Given the description of an element on the screen output the (x, y) to click on. 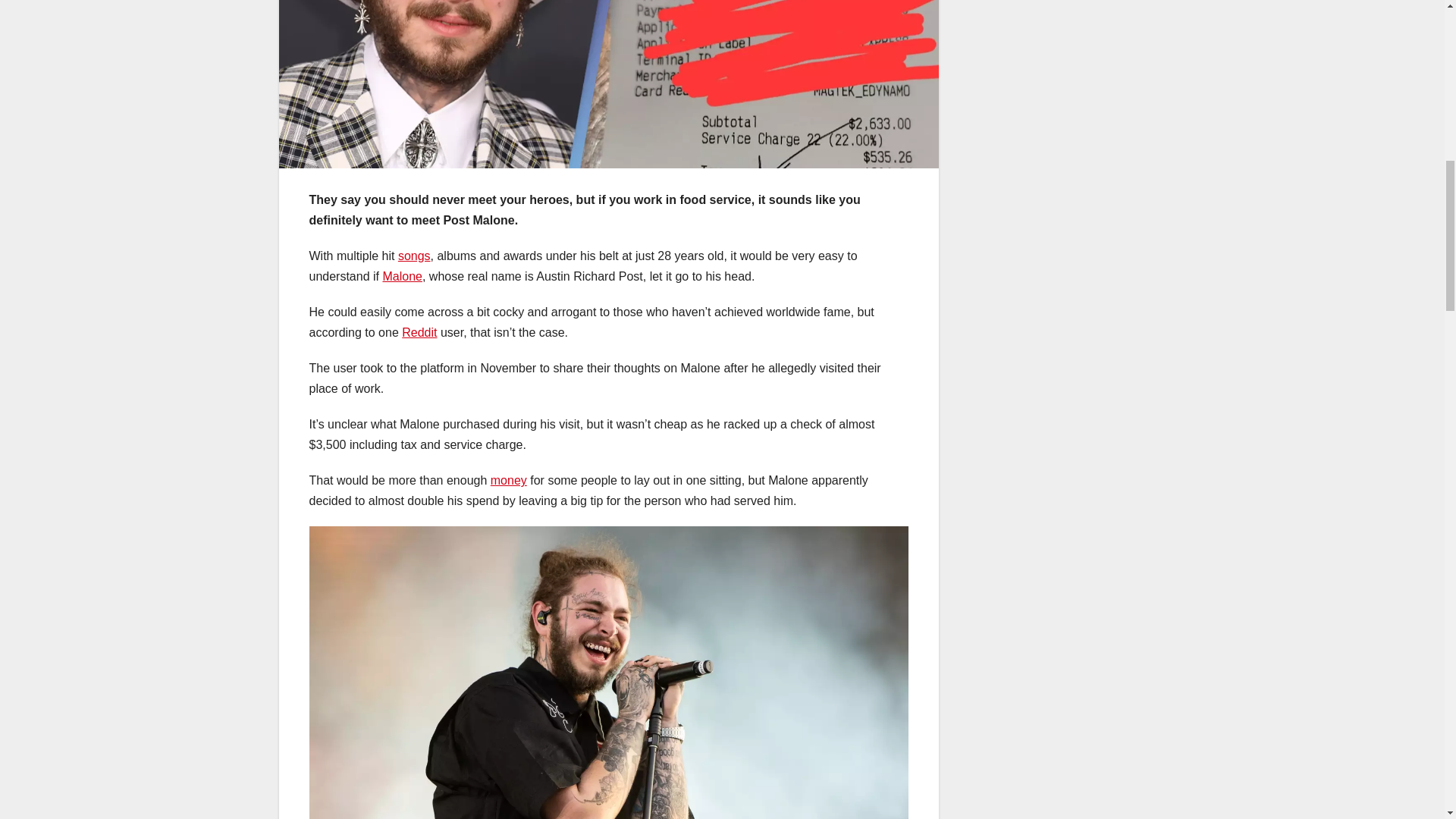
Malone (401, 276)
money (508, 480)
Reddit (418, 332)
songs (413, 255)
